Given the description of an element on the screen output the (x, y) to click on. 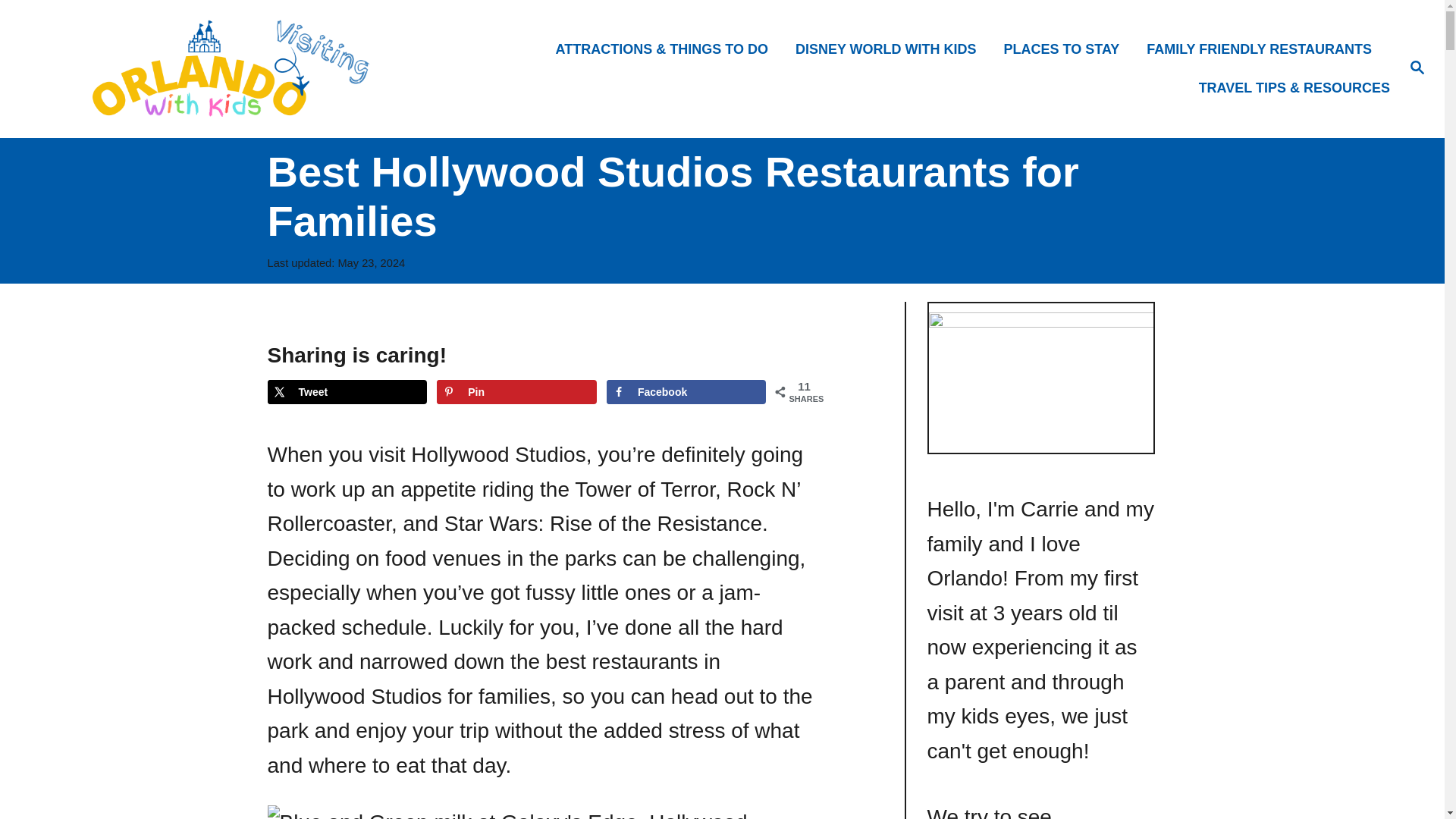
Share on X (346, 392)
Magnifying Glass (1416, 67)
Pin (516, 392)
DISNEY WORLD WITH KIDS (890, 49)
Visiting Orlando With Kids (204, 68)
FAMILY FRIENDLY RESTAURANTS (1263, 49)
Save to Pinterest (516, 392)
PLACES TO STAY (1066, 49)
Share on Facebook (687, 392)
Tweet (346, 392)
Facebook (687, 392)
